Given the description of an element on the screen output the (x, y) to click on. 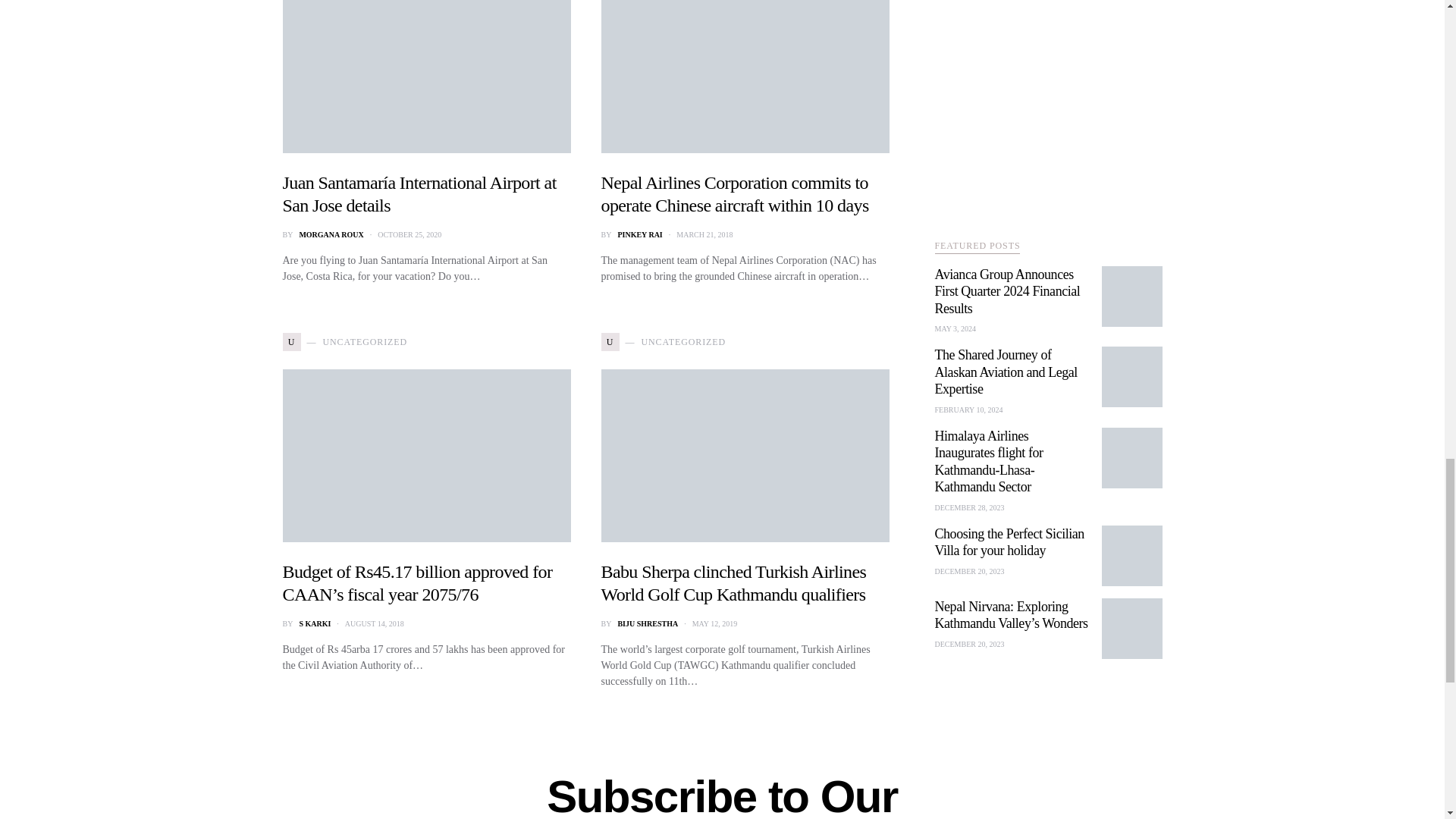
View all posts by Morgana Roux (330, 234)
View all posts by S Karki (314, 623)
View all posts by Pinkey Rai (639, 234)
View all posts by Biju Shrestha (647, 623)
